Given the description of an element on the screen output the (x, y) to click on. 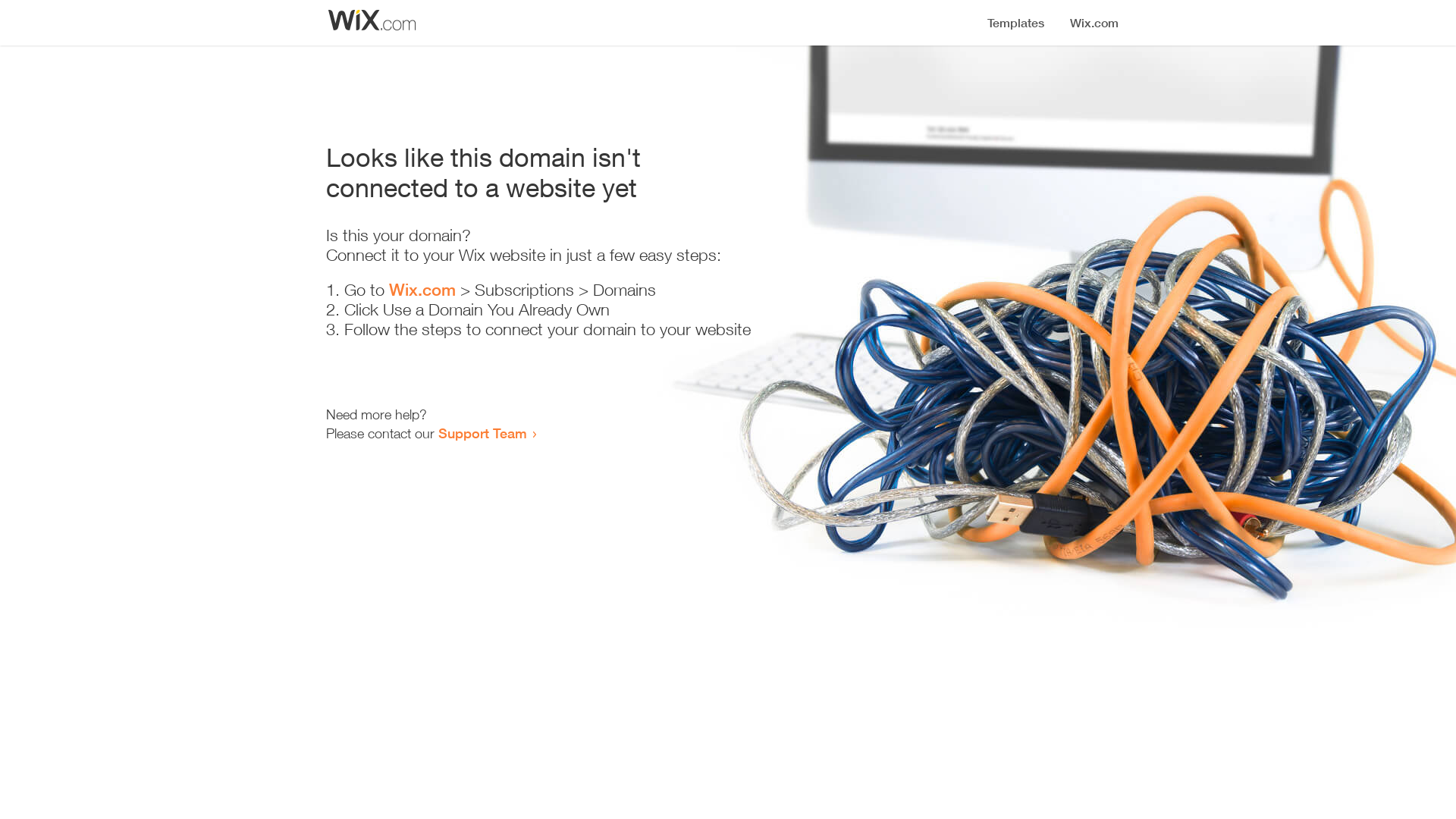
Wix.com Element type: text (422, 289)
Support Team Element type: text (482, 432)
